Given the description of an element on the screen output the (x, y) to click on. 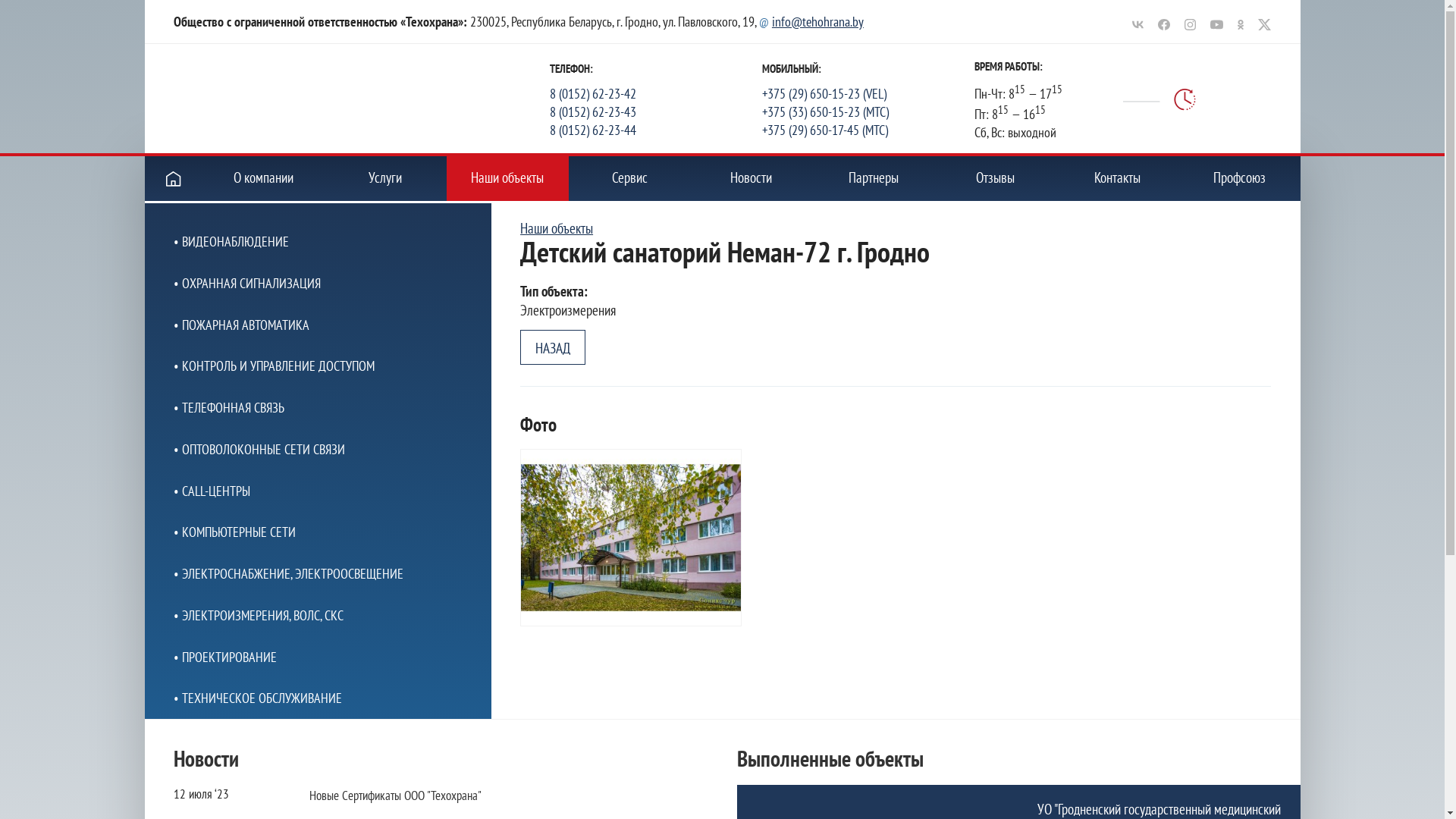
8 (0152) 62-23-42 Element type: text (655, 93)
info@tehohrana.by Element type: text (817, 21)
8 (0152) 62-23-43 Element type: text (655, 111)
+375 (29) 650-15-23 (VEL) Element type: text (868, 93)
8 (0152) 62-23-44 Element type: text (655, 129)
